Given the description of an element on the screen output the (x, y) to click on. 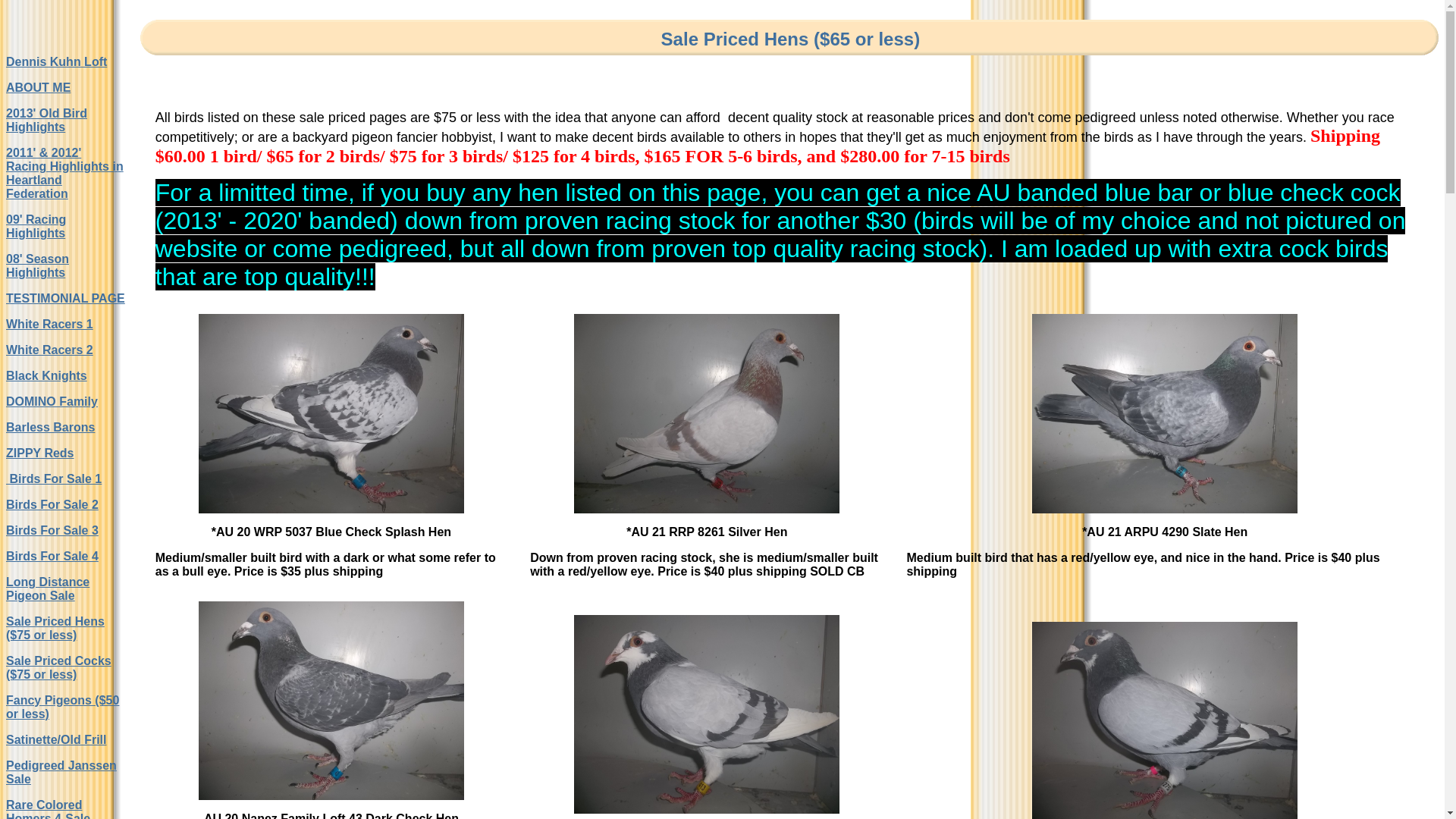
 Birds For Sale 1 Element type: text (53, 478)
Birds For Sale 4 Element type: text (52, 555)
DOMINO Family Element type: text (51, 401)
Birds For Sale 2 Element type: text (52, 504)
Dennis Kuhn Loft Element type: text (56, 61)
Black Knights Element type: text (46, 375)
Long Distance Pigeon Sale Element type: text (47, 588)
White Racers 2 Element type: text (49, 349)
Sale Priced Hens ($75 or less) Element type: text (55, 628)
Fancy Pigeons ($50 or less) Element type: text (62, 706)
TESTIMONIAL PAGE Element type: text (65, 297)
08' Season Highlights Element type: text (37, 265)
2011' & 2012' Racing Highlights in Heartland Federation Element type: text (64, 173)
ABOUT ME Element type: text (38, 87)
ZIPPY Reds Element type: text (40, 452)
2013' Old Bird Highlights Element type: text (46, 119)
Barless Barons Element type: text (50, 426)
Sale Priced Cocks ($75 or less) Element type: text (58, 667)
Satinette/Old Frill Element type: text (56, 739)
Pedigreed Janssen Sale Element type: text (61, 772)
09' Racing Highlights Element type: text (35, 226)
White Racers 1 Element type: text (49, 323)
Birds For Sale 3 Element type: text (52, 530)
